Given the description of an element on the screen output the (x, y) to click on. 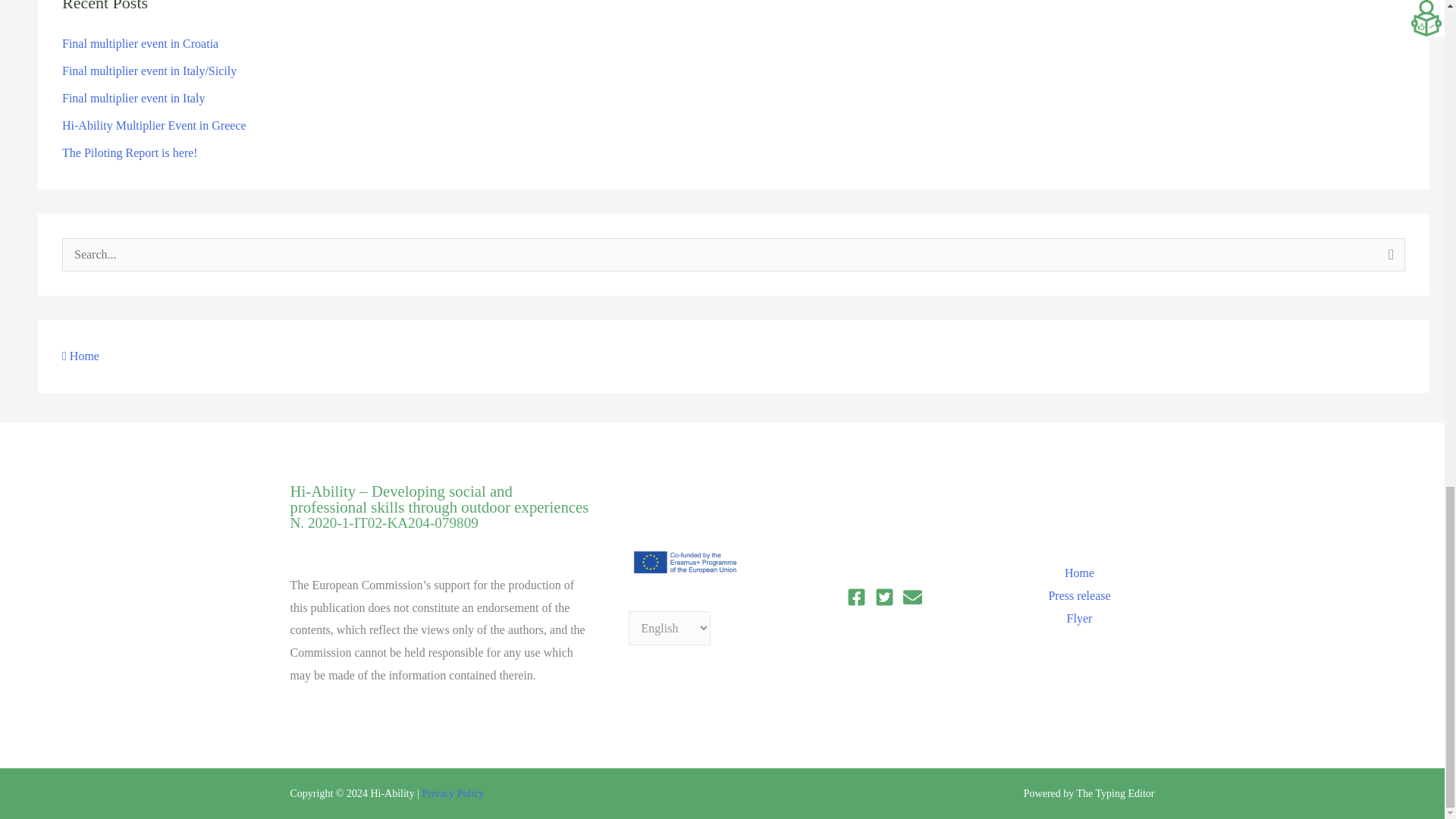
Final multiplier event in Croatia (140, 42)
Final multiplier event in Italy (133, 97)
Hi-Ability Multiplier Event in Greece (154, 124)
The Piloting Report is here! (130, 152)
